Given the description of an element on the screen output the (x, y) to click on. 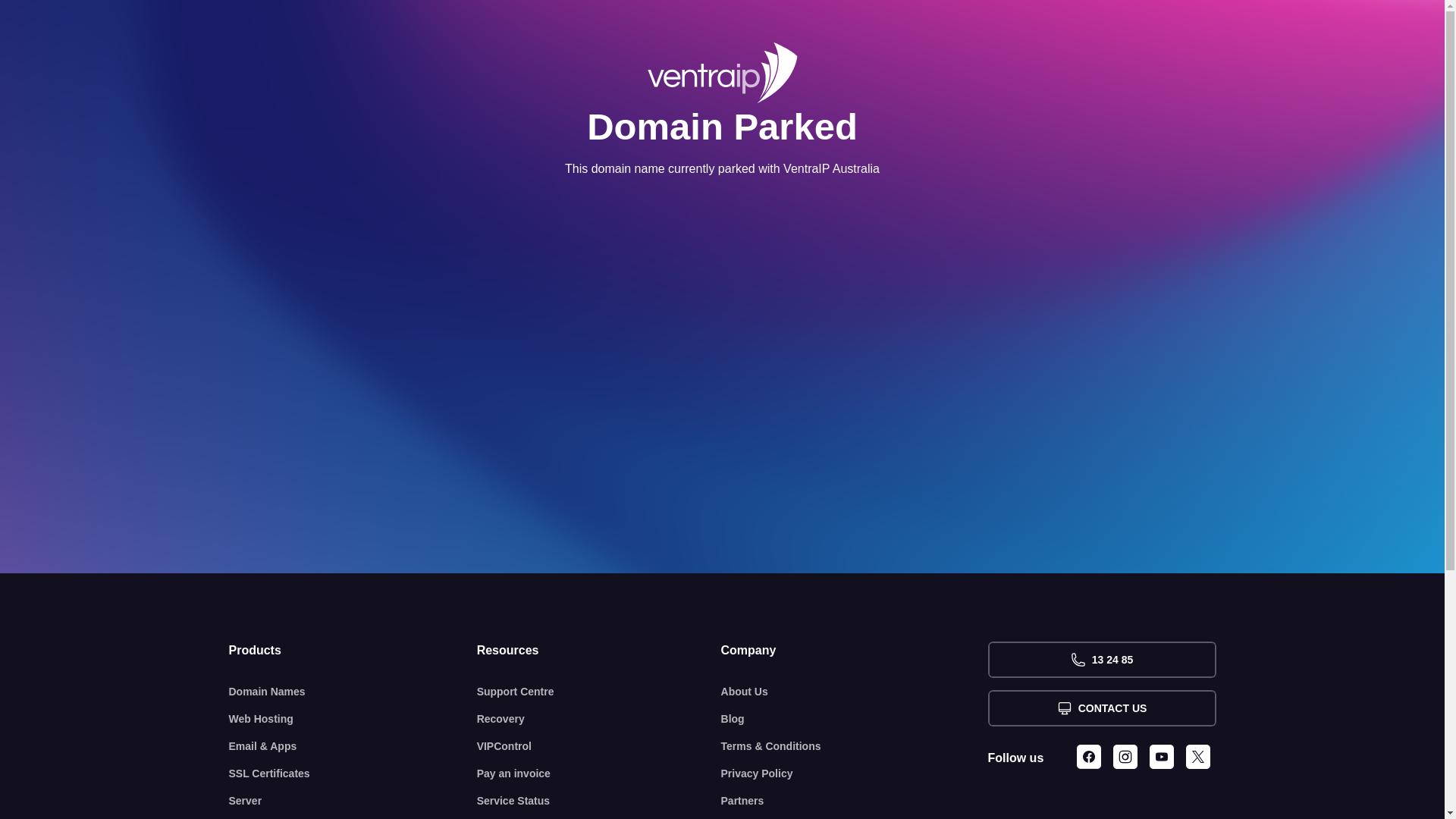
SSL Certificates Element type: text (352, 773)
Email & Apps Element type: text (352, 745)
13 24 85 Element type: text (1101, 659)
CONTACT US Element type: text (1101, 708)
Support Centre Element type: text (598, 691)
Recovery Element type: text (598, 718)
Web Hosting Element type: text (352, 718)
Blog Element type: text (854, 718)
Privacy Policy Element type: text (854, 773)
Domain Names Element type: text (352, 691)
Service Status Element type: text (598, 800)
Terms & Conditions Element type: text (854, 745)
VIPControl Element type: text (598, 745)
Pay an invoice Element type: text (598, 773)
About Us Element type: text (854, 691)
Server Element type: text (352, 800)
Partners Element type: text (854, 800)
